Given the description of an element on the screen output the (x, y) to click on. 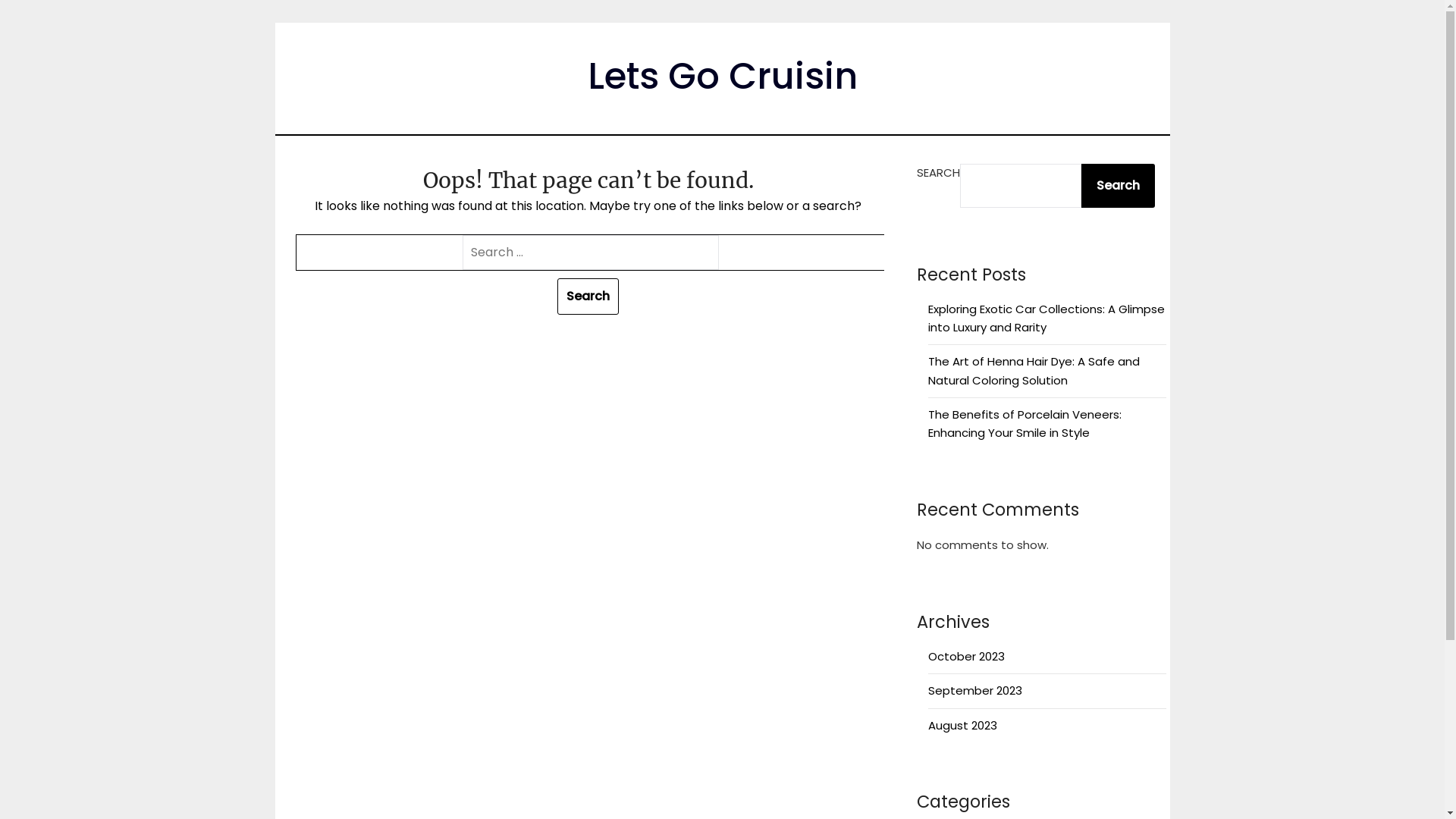
Search Element type: text (1117, 185)
Search Element type: text (587, 296)
September 2023 Element type: text (975, 690)
October 2023 Element type: text (966, 656)
Lets Go Cruisin Element type: text (721, 75)
August 2023 Element type: text (962, 725)
